Given the description of an element on the screen output the (x, y) to click on. 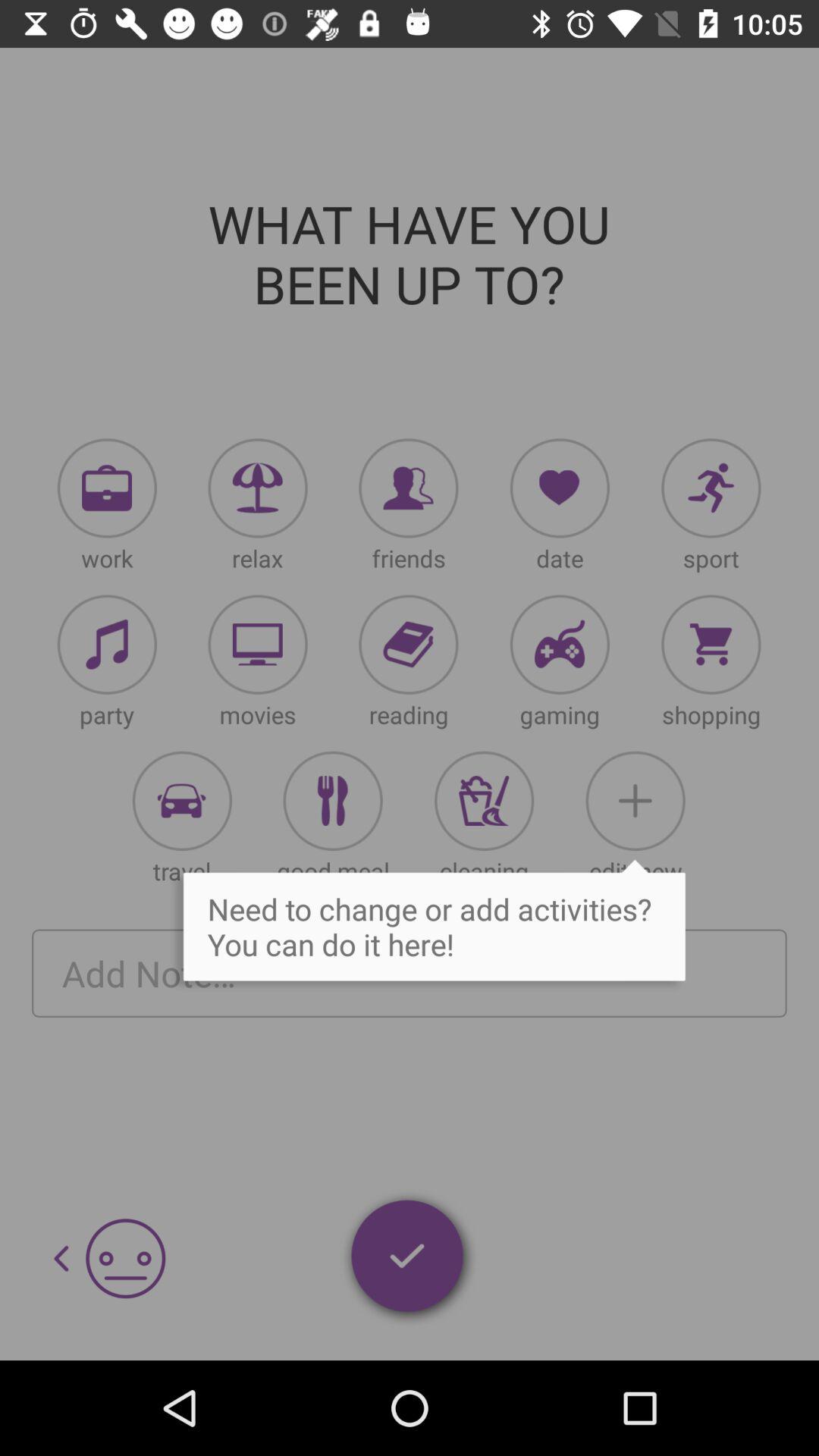
add activities (332, 800)
